Given the description of an element on the screen output the (x, y) to click on. 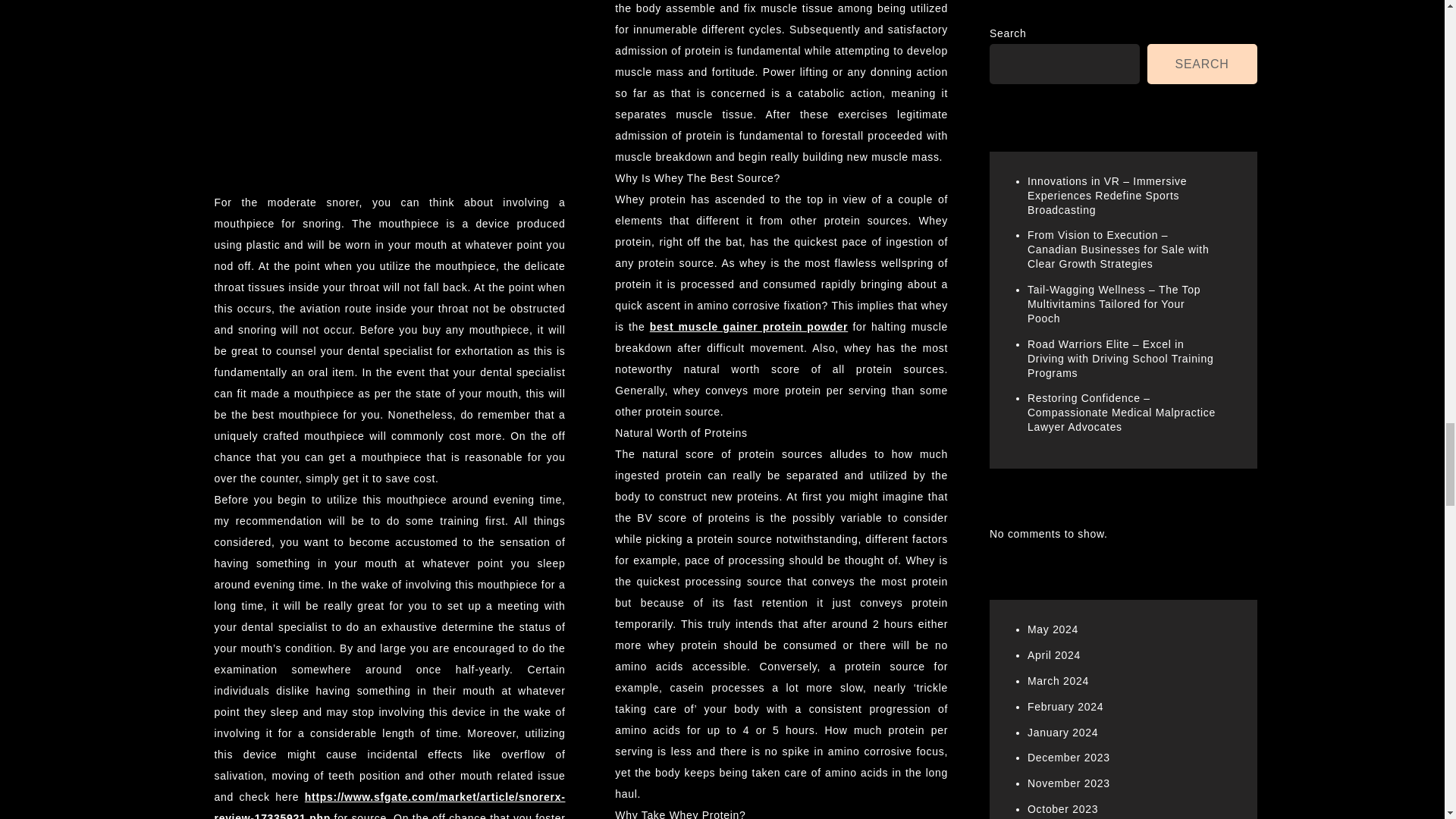
best muscle gainer protein powder (748, 326)
